Given the description of an element on the screen output the (x, y) to click on. 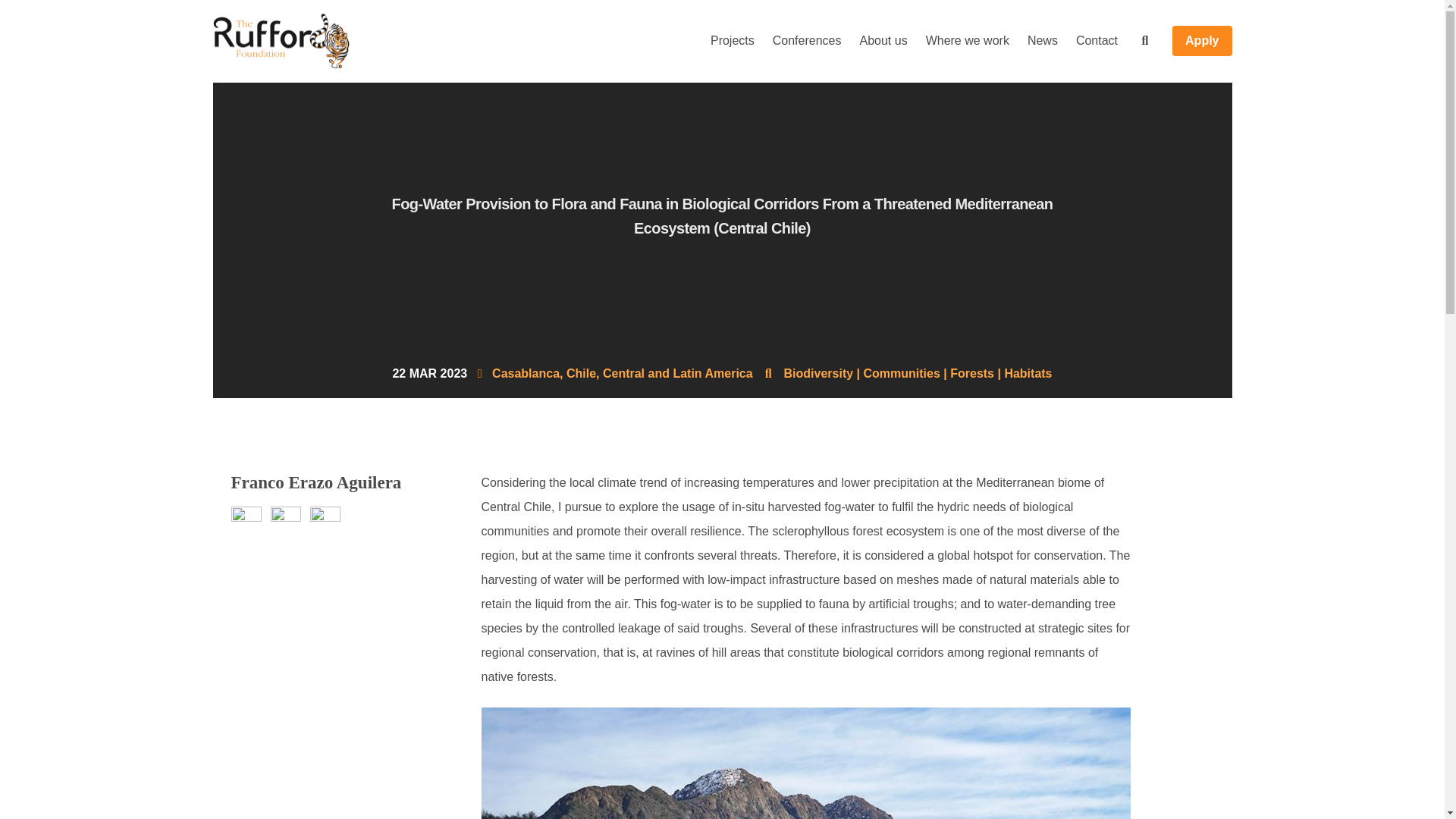
Chile, (582, 373)
Projects in Biodiversity category (818, 373)
Projects in Central and Latin America (677, 373)
Forests (972, 373)
Where we work (967, 41)
Projects in Habitats category (1027, 373)
Conferences (806, 41)
Biodiversity (818, 373)
Habitats (1027, 373)
Central and Latin America (677, 373)
